Given the description of an element on the screen output the (x, y) to click on. 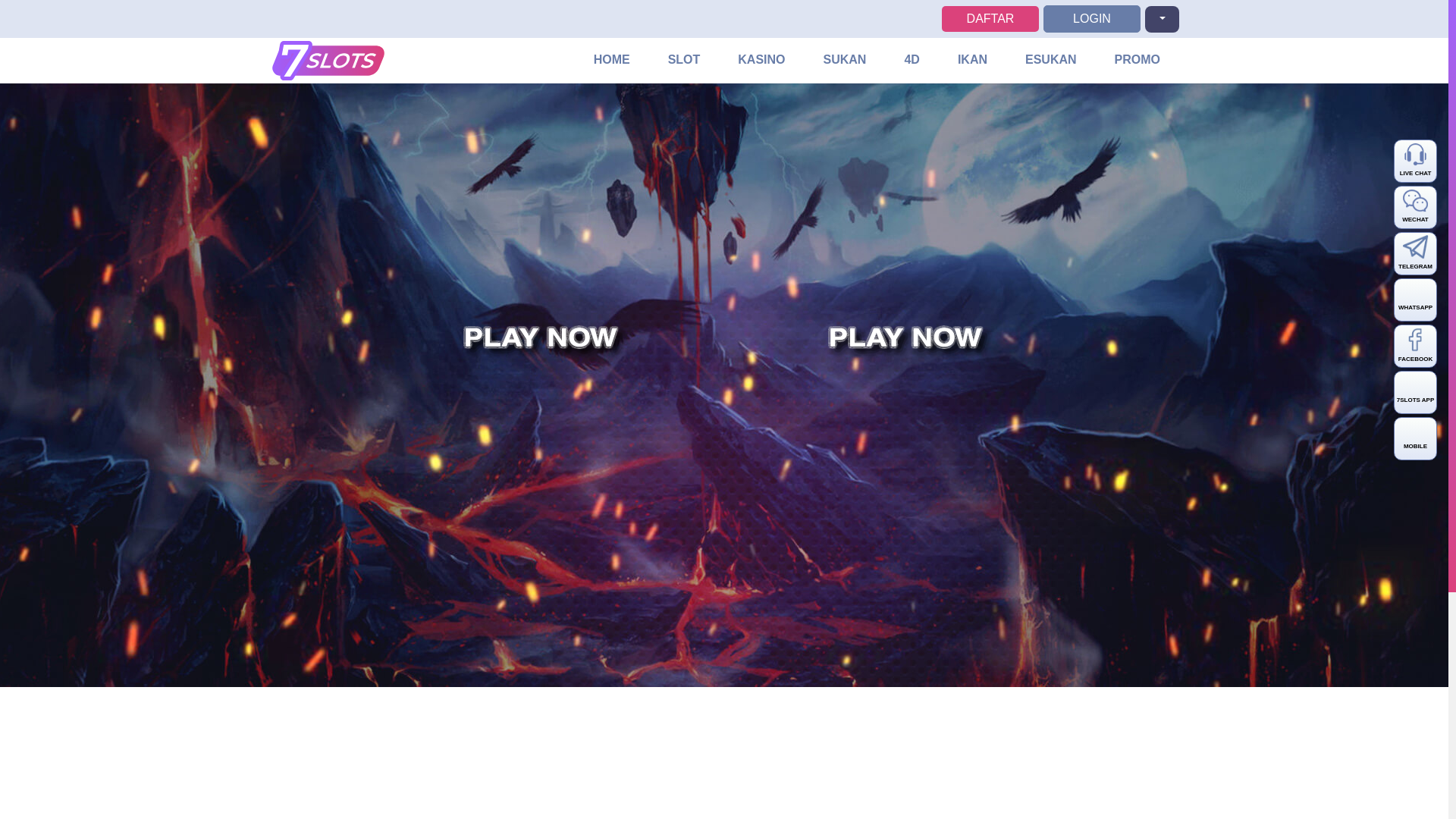
MOBILE (1414, 438)
SLOT (684, 60)
HOME (612, 60)
LOGIN (1091, 18)
FACEBOOK (1414, 345)
WHATSAPP (1414, 300)
LIVE CHAT (1414, 160)
WECHAT (1414, 207)
TELEGRAM (1414, 253)
DAFTAR (990, 18)
7SLOTS APP (1414, 392)
